Given the description of an element on the screen output the (x, y) to click on. 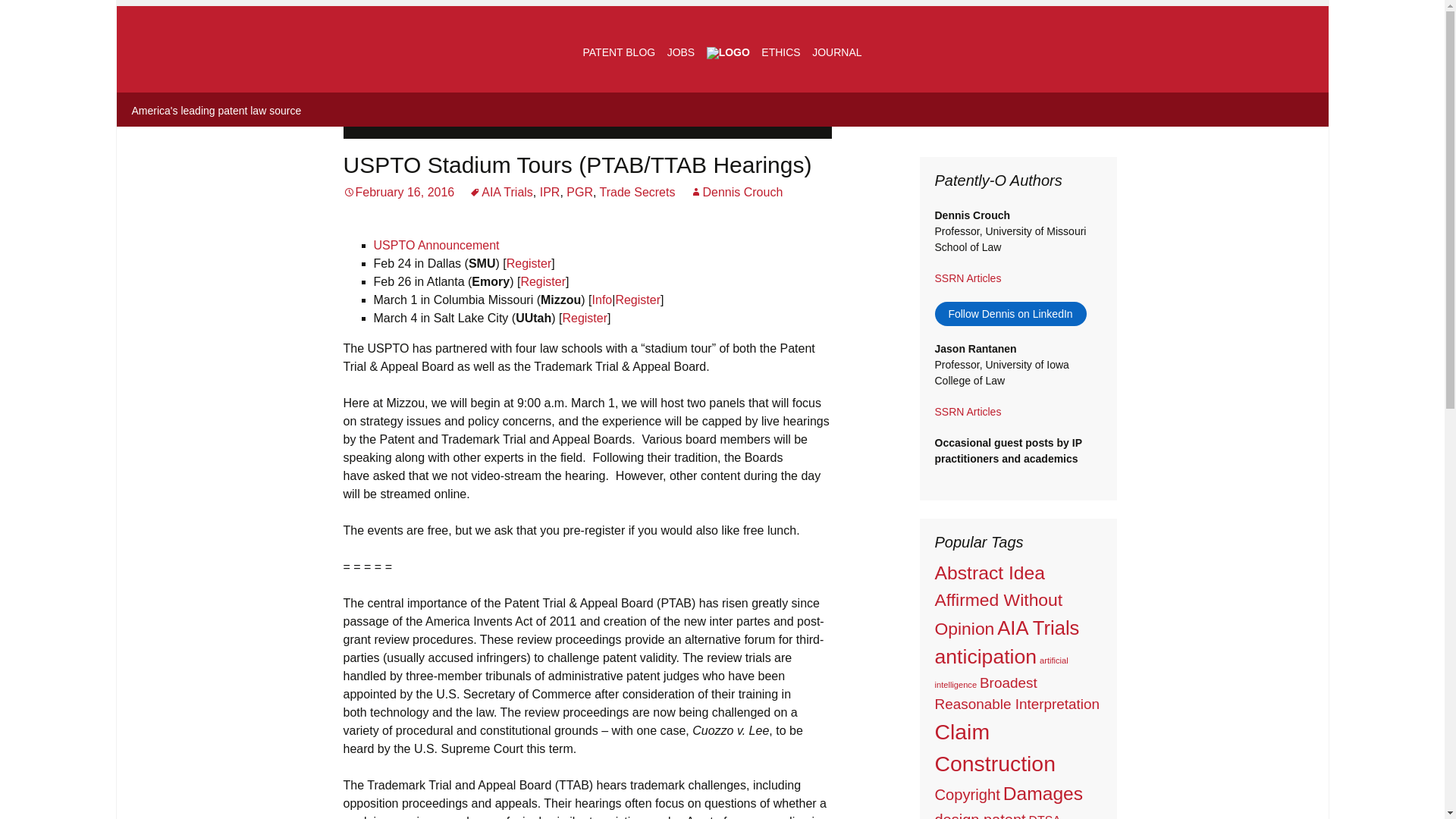
Trade Secrets (637, 192)
Info (602, 299)
PGR (579, 192)
PATENT BLOG (618, 51)
ETHICS (781, 51)
View all posts by Dennis Crouch (736, 192)
USPTO Announcement (435, 245)
Patent Law Journal from Patently-O (836, 51)
Register (542, 281)
Register (637, 299)
SSRN Articles (967, 411)
Register (584, 318)
JOURNAL (836, 51)
February 16, 2016 (398, 192)
Follow Dennis on LinkedIn (1010, 313)
